Given the description of an element on the screen output the (x, y) to click on. 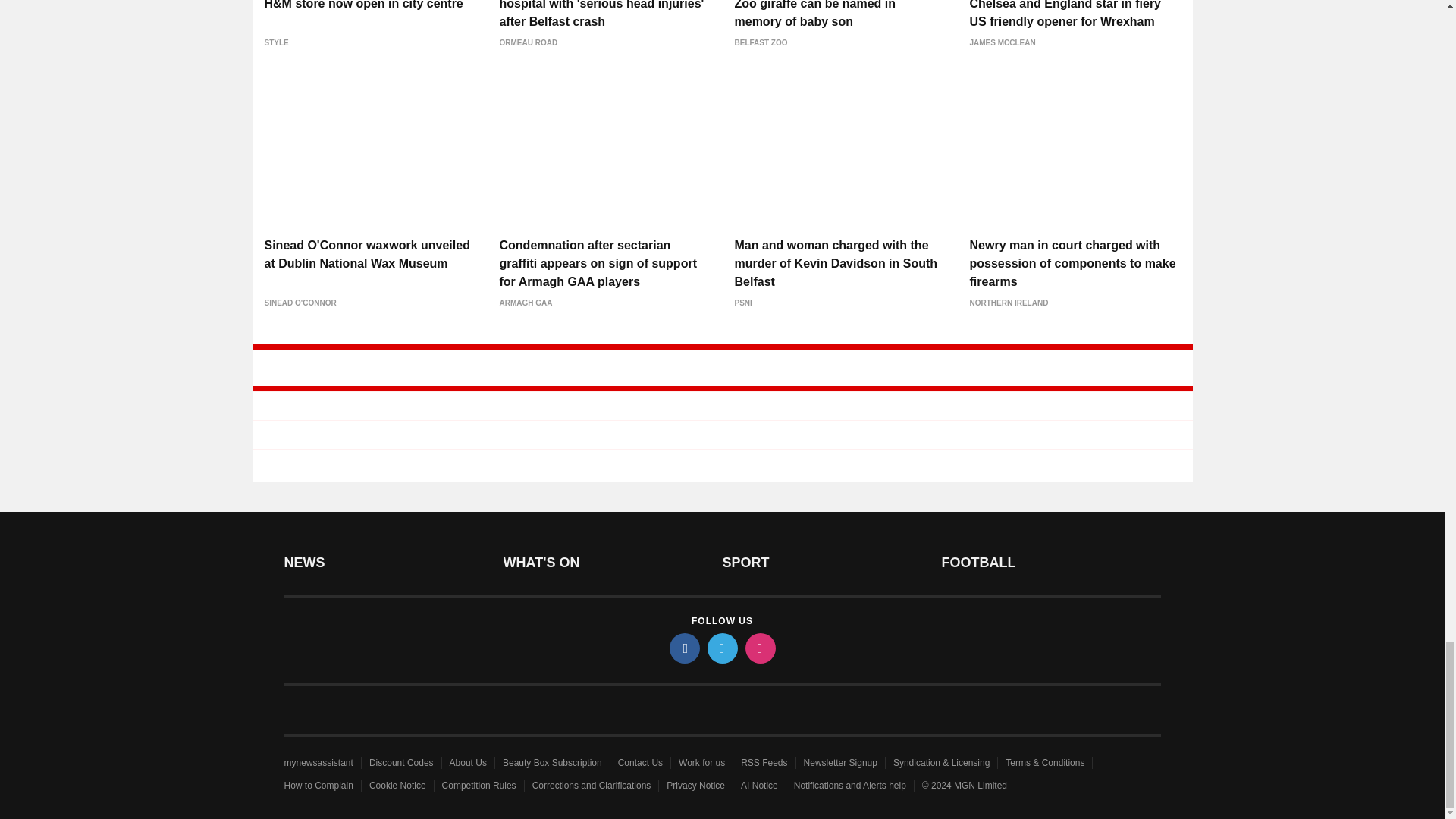
facebook (683, 648)
instagram (759, 648)
twitter (721, 648)
